Given the description of an element on the screen output the (x, y) to click on. 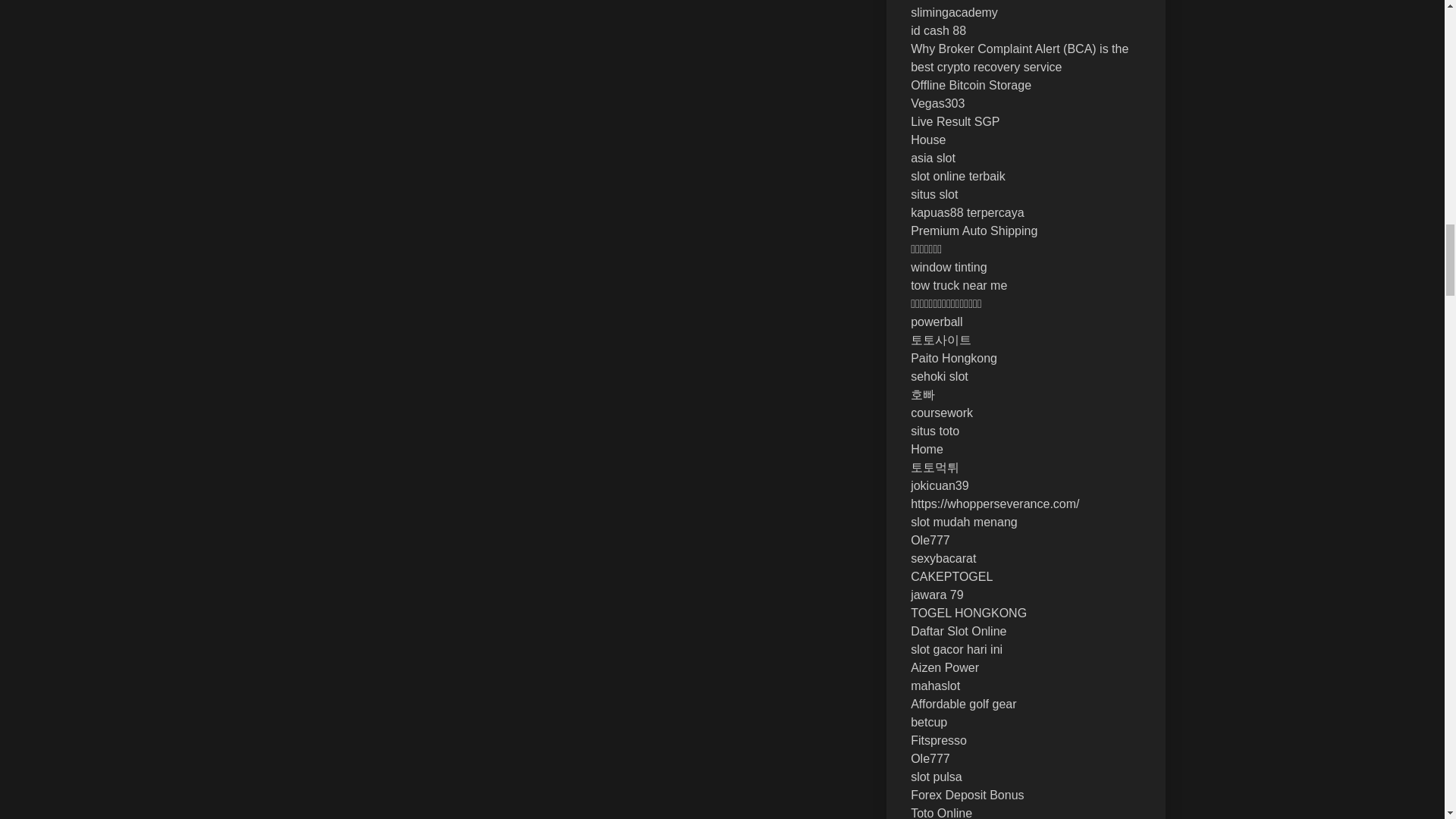
betcup (929, 721)
